Given the description of an element on the screen output the (x, y) to click on. 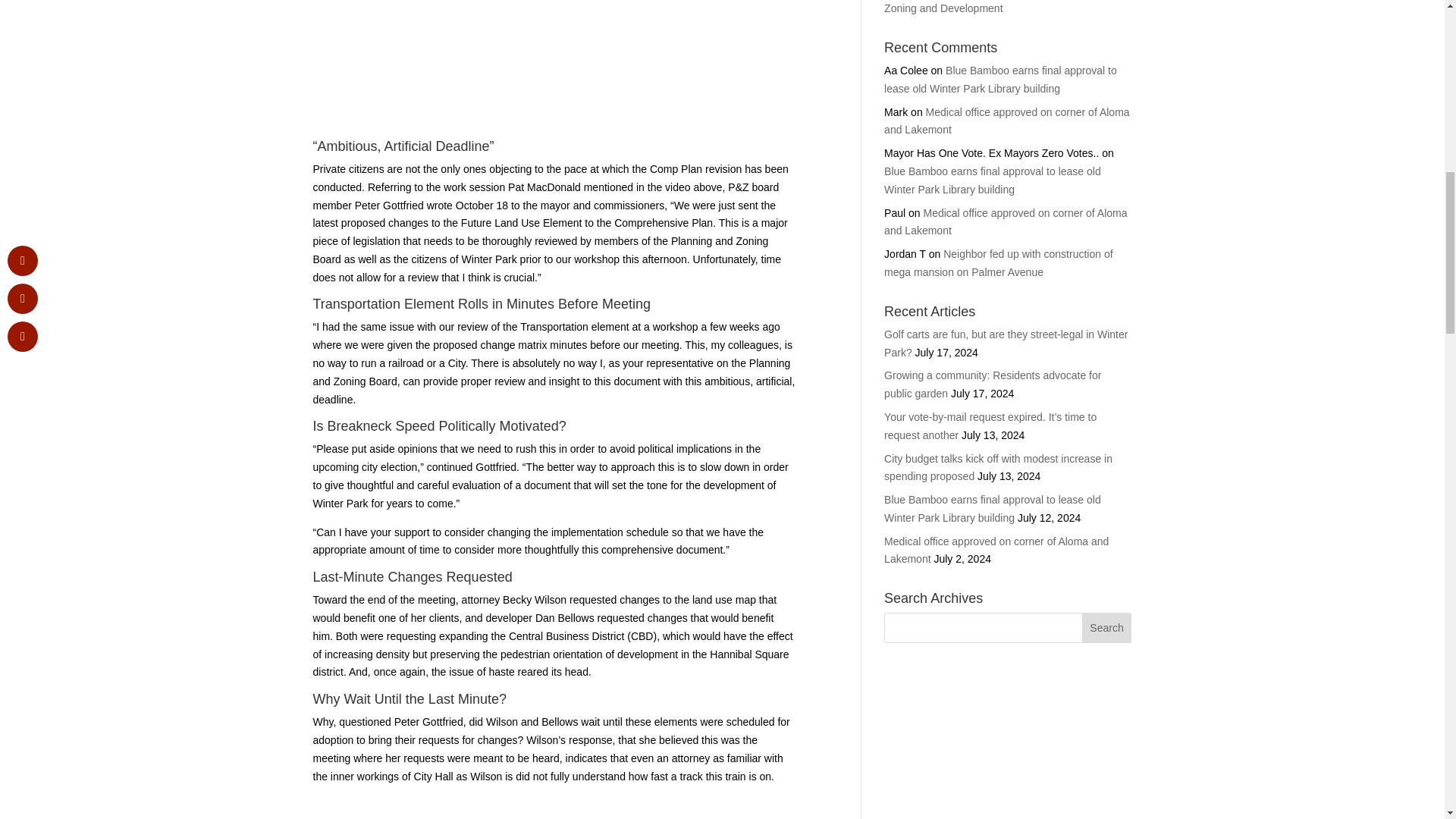
Search (1106, 627)
